Given the description of an element on the screen output the (x, y) to click on. 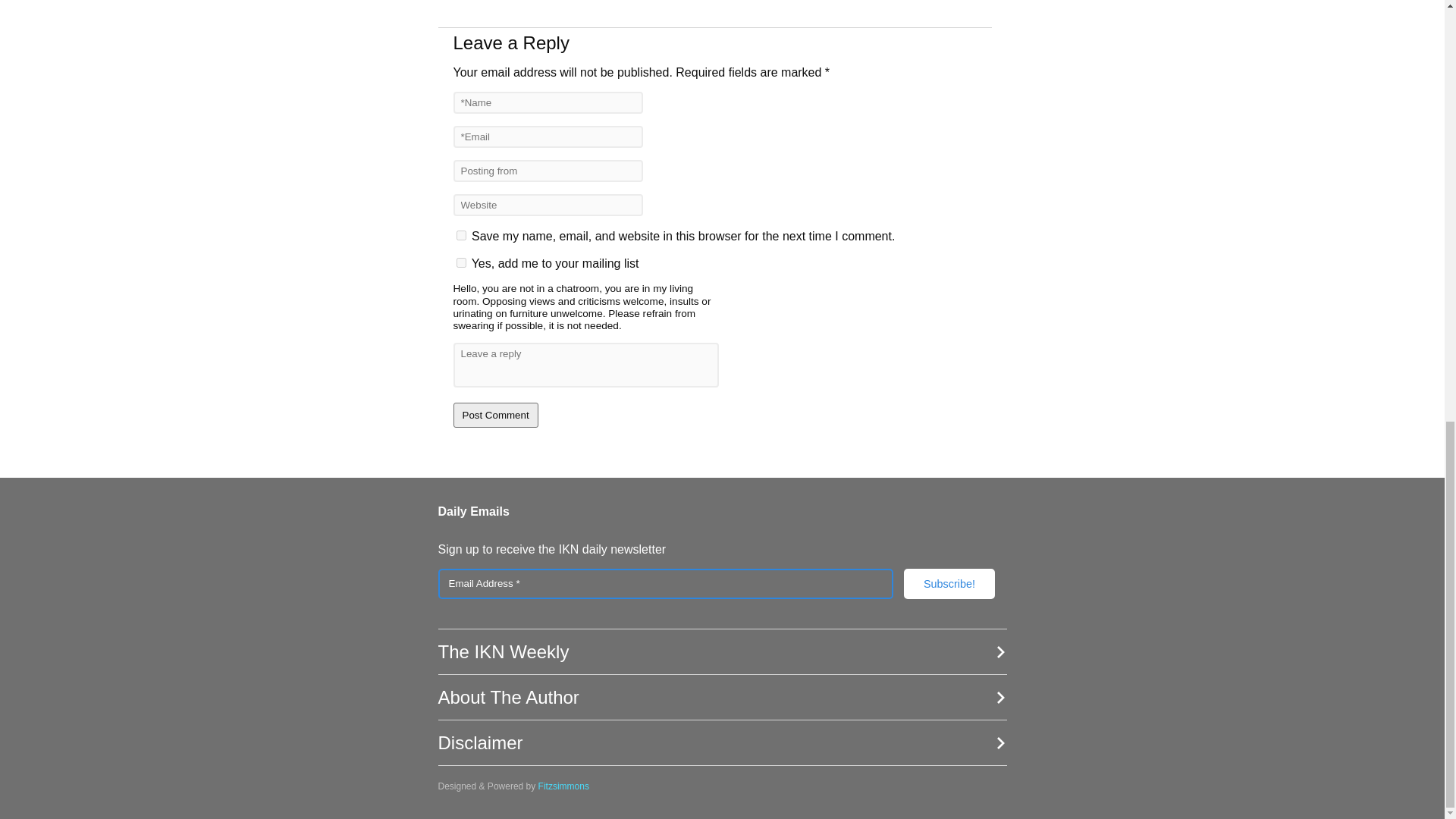
yes (461, 235)
Post Comment (495, 414)
About The Author (722, 697)
Post Comment (495, 414)
Fitzsimmons (563, 786)
Email Address (665, 583)
Subscribe! (949, 583)
1 (461, 262)
Subscribe! (949, 583)
